Given the description of an element on the screen output the (x, y) to click on. 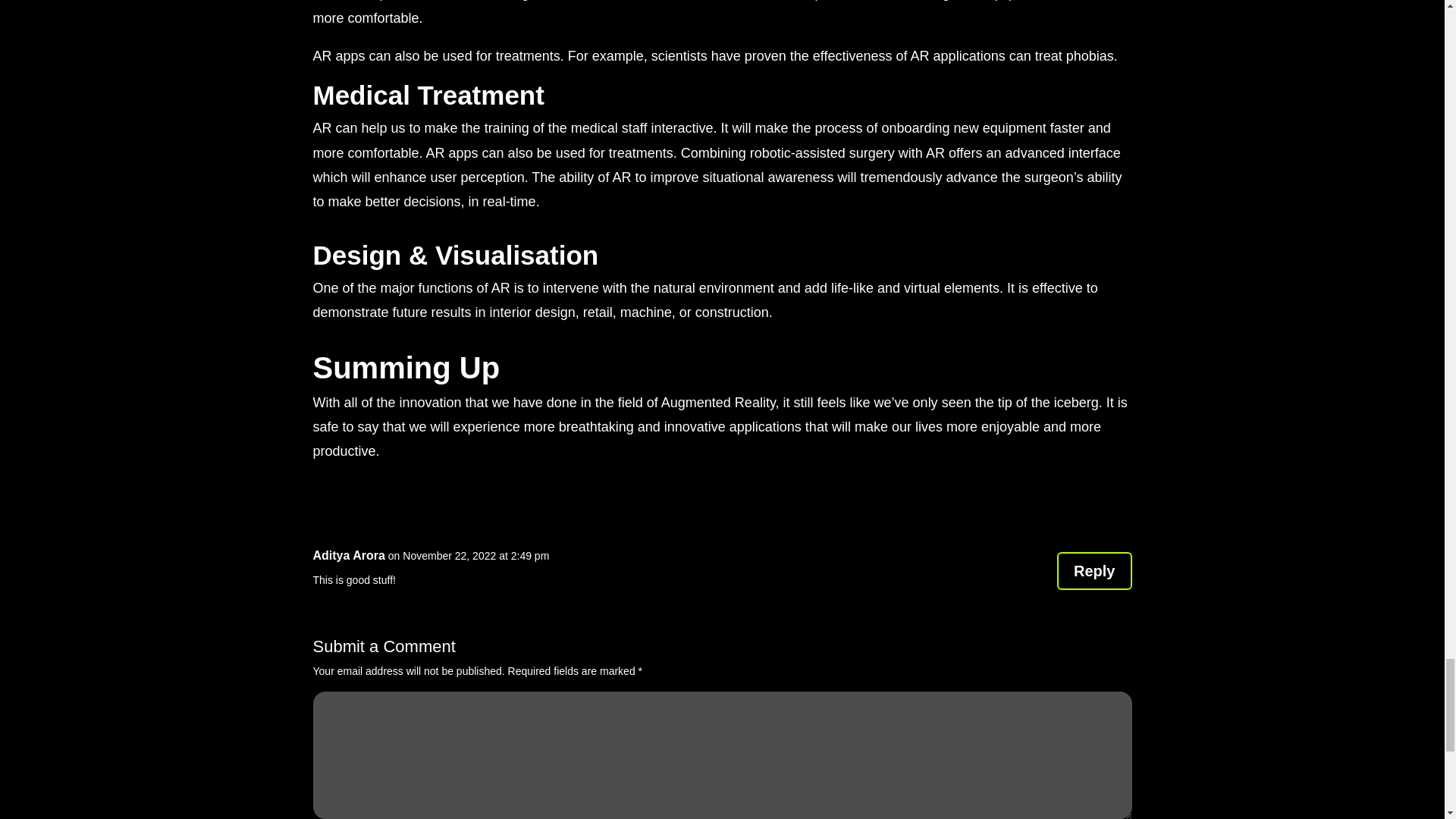
Reply (1094, 570)
